Given the description of an element on the screen output the (x, y) to click on. 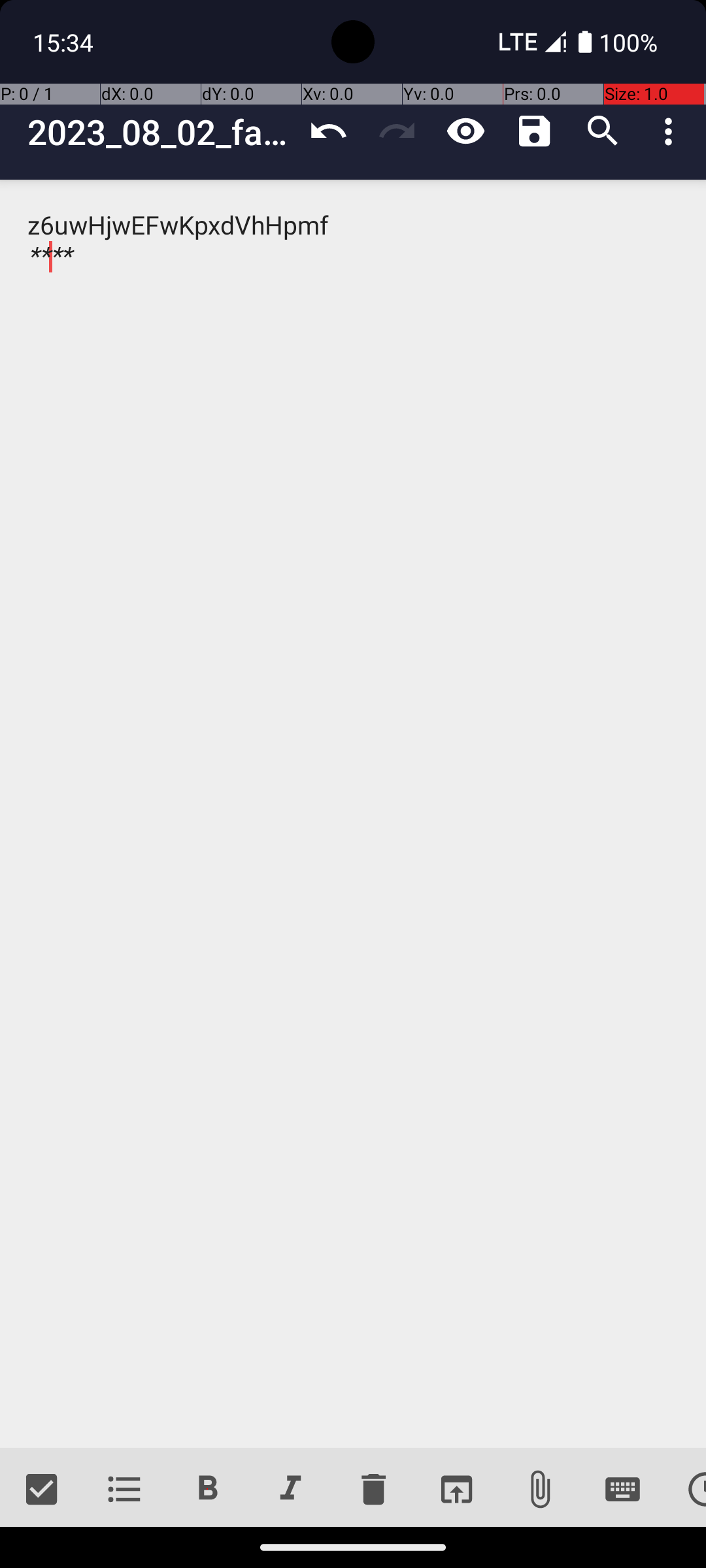
2023_08_02_favorite_book_quotes Element type: android.widget.TextView (160, 131)
z6uwHjwEFwKpxdVhHpmf
**** Element type: android.widget.EditText (353, 813)
